Given the description of an element on the screen output the (x, y) to click on. 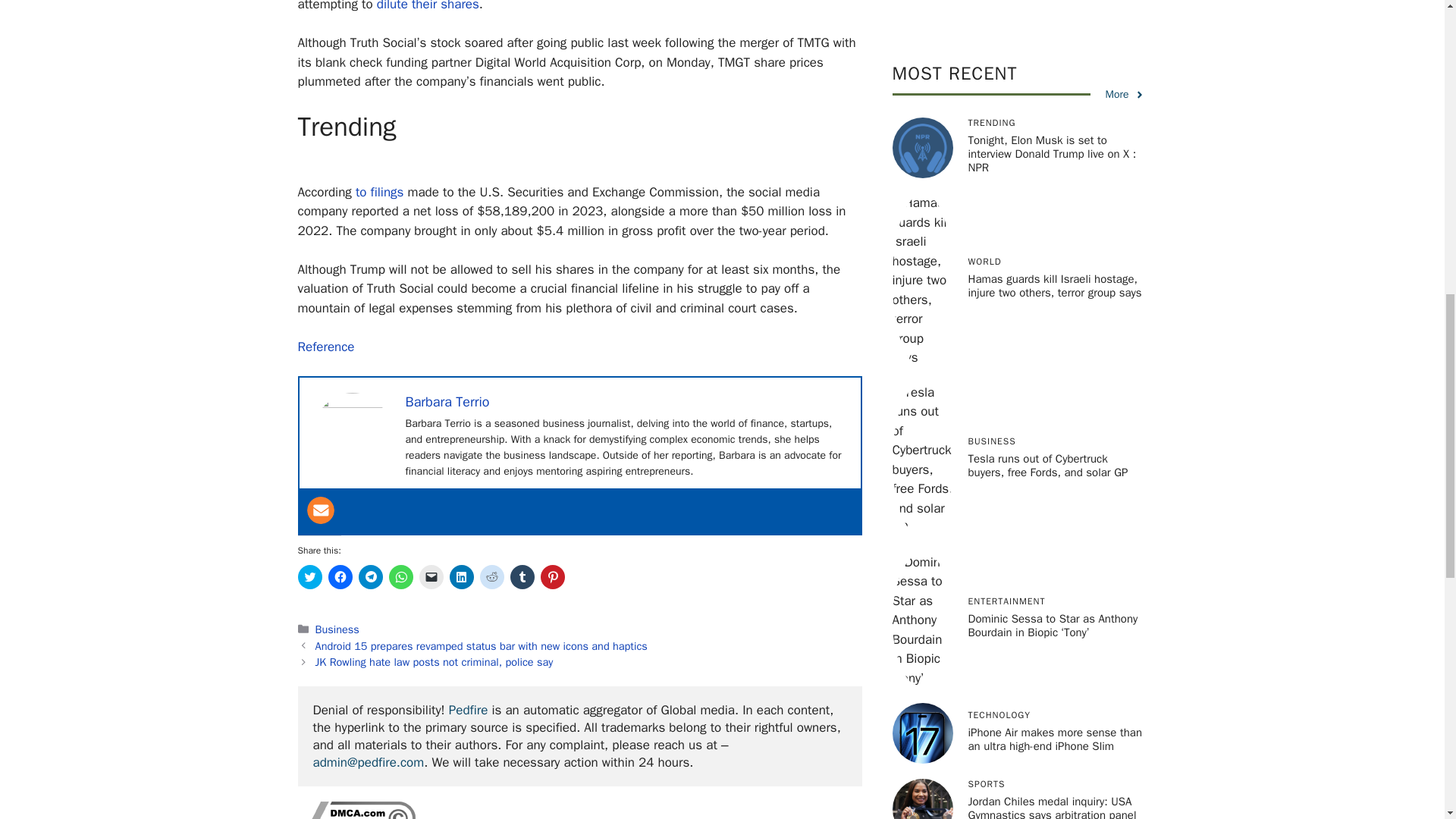
Click to email a link to a friend (430, 576)
to filings (379, 191)
Pedfire (467, 709)
Click to share on Facebook (339, 576)
Click to share on LinkedIn (460, 576)
Reference (325, 346)
User email (319, 510)
Click to share on Twitter (309, 576)
Click to share on Pinterest (552, 576)
Click to share on WhatsApp (400, 576)
